Given the description of an element on the screen output the (x, y) to click on. 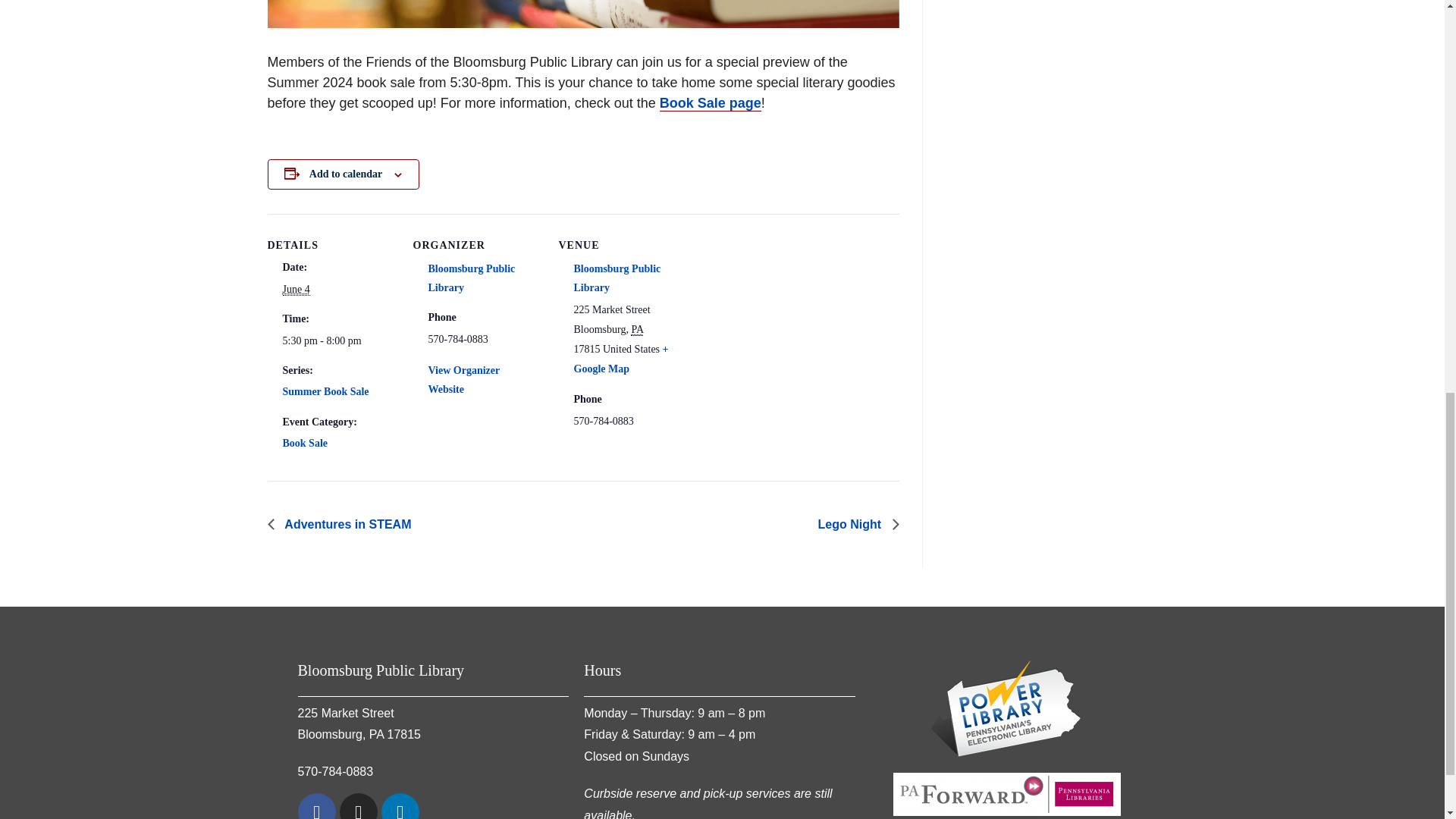
Pennsylvania (636, 329)
Bloomsburg Public Library (471, 277)
Book Sale page (710, 103)
Click to view a Google Map (620, 358)
Add to calendar (344, 174)
Summer Book Sale (325, 391)
2024-06-04 (295, 289)
2024-06-04 (330, 340)
